Given the description of an element on the screen output the (x, y) to click on. 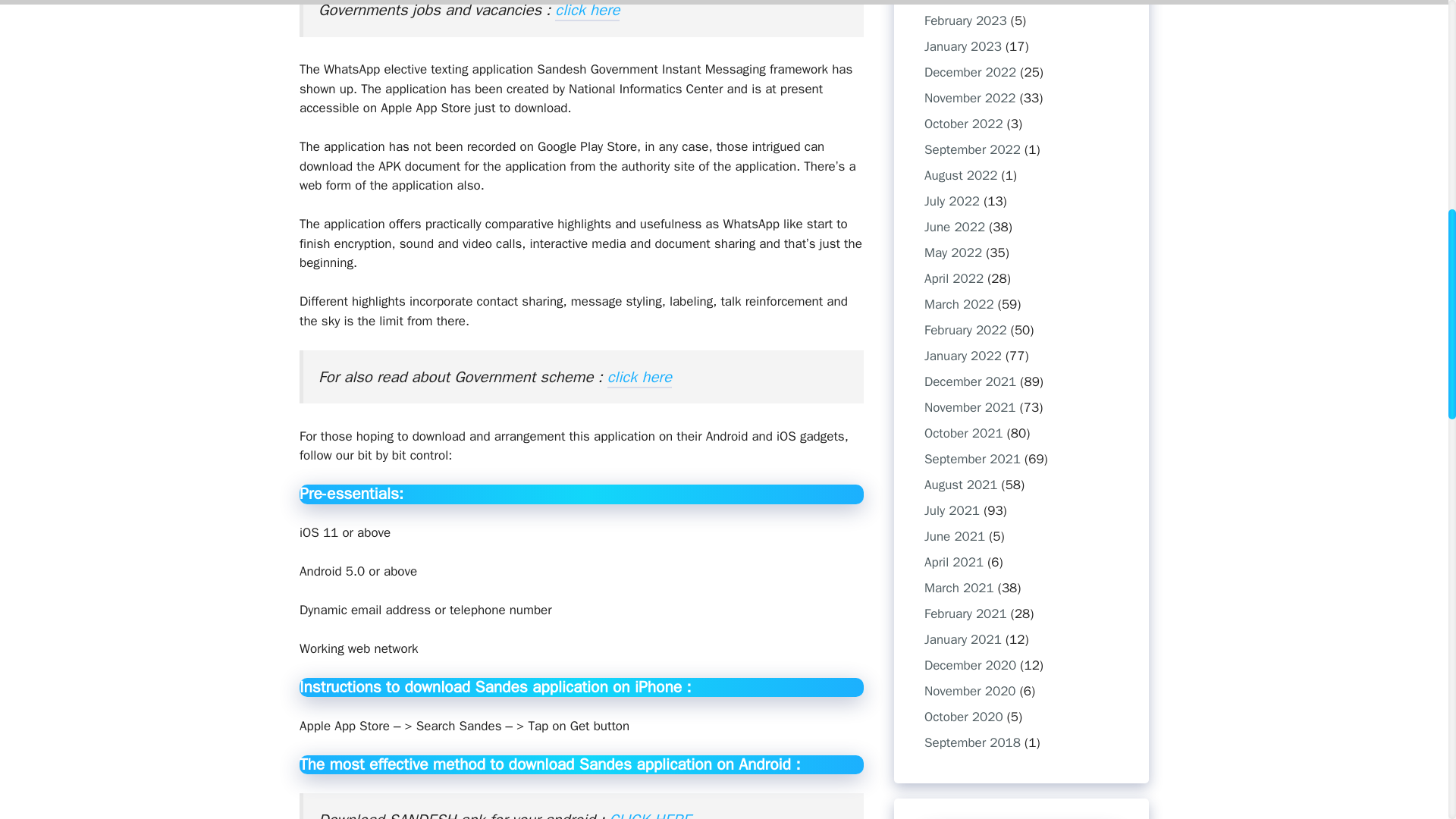
click here (639, 377)
CLICK HERE (649, 814)
click here (587, 11)
